Given the description of an element on the screen output the (x, y) to click on. 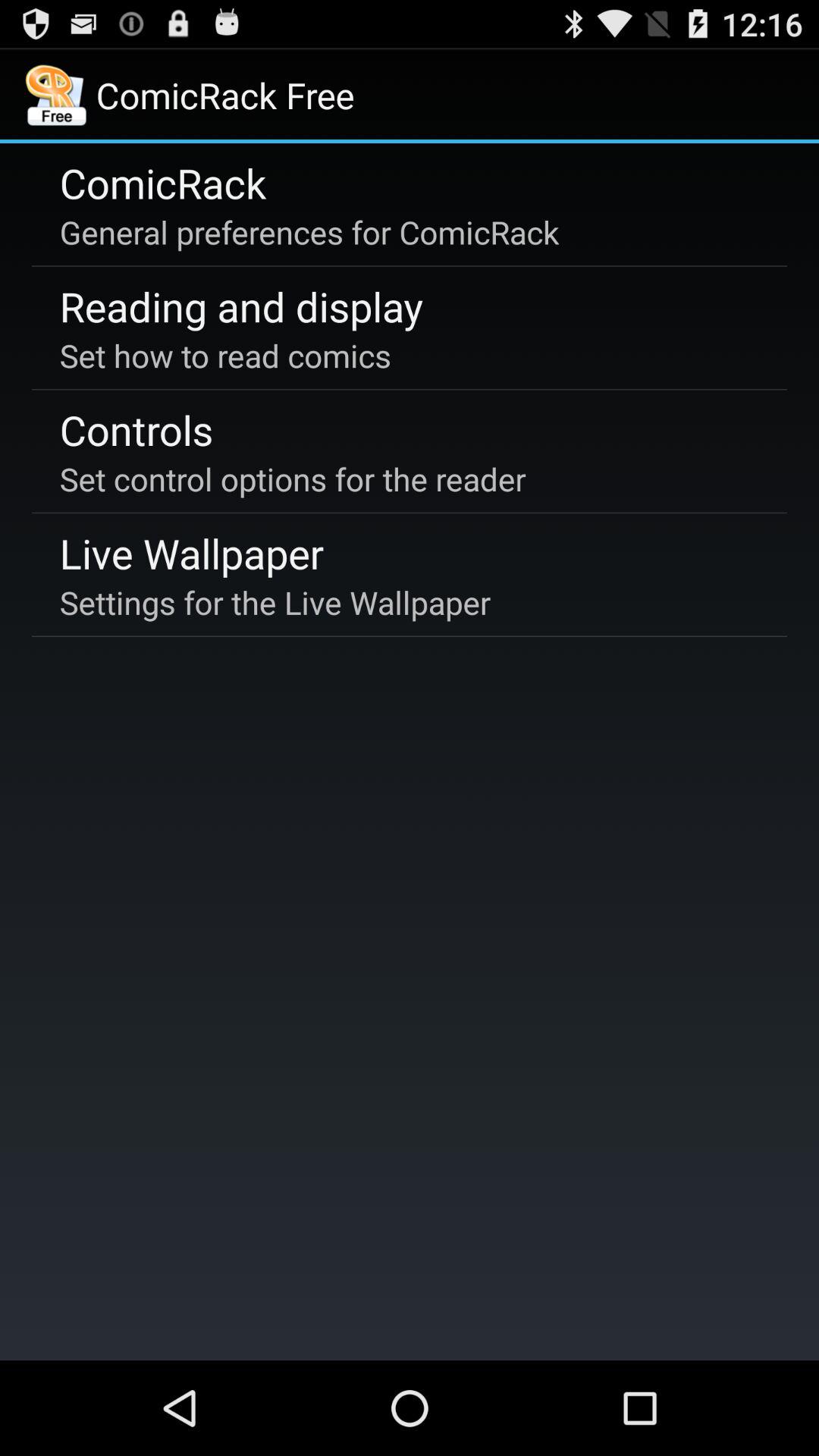
turn off the item below comicrack (309, 231)
